Given the description of an element on the screen output the (x, y) to click on. 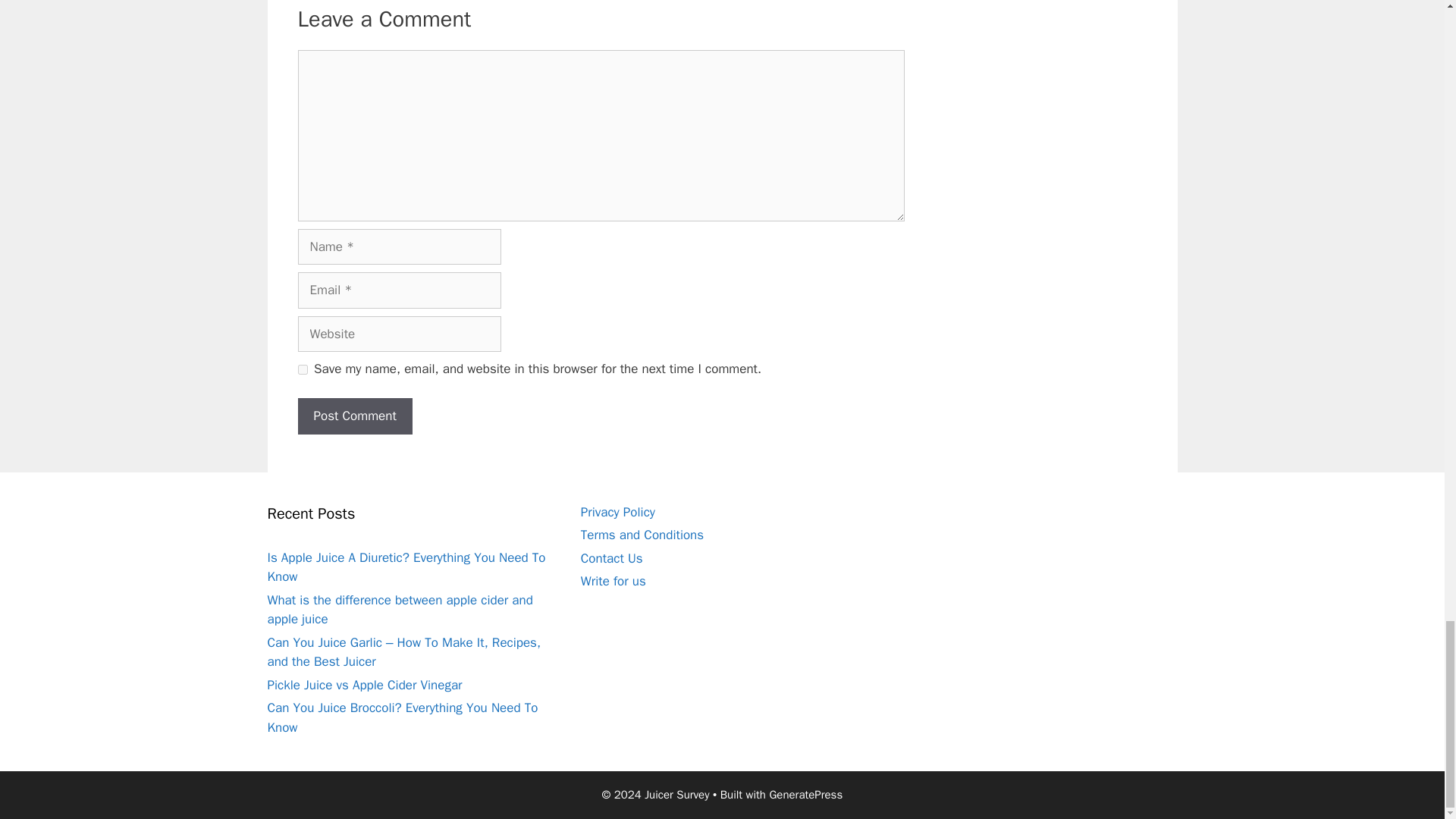
Post Comment (354, 416)
What is the difference between apple cider and apple juice (399, 610)
Post Comment (354, 416)
Can You Juice Broccoli? Everything You Need To Know (401, 717)
Pickle Juice vs Apple Cider Vinegar (363, 684)
yes (302, 369)
Is Apple Juice A Diuretic? Everything You Need To Know (405, 567)
